Given the description of an element on the screen output the (x, y) to click on. 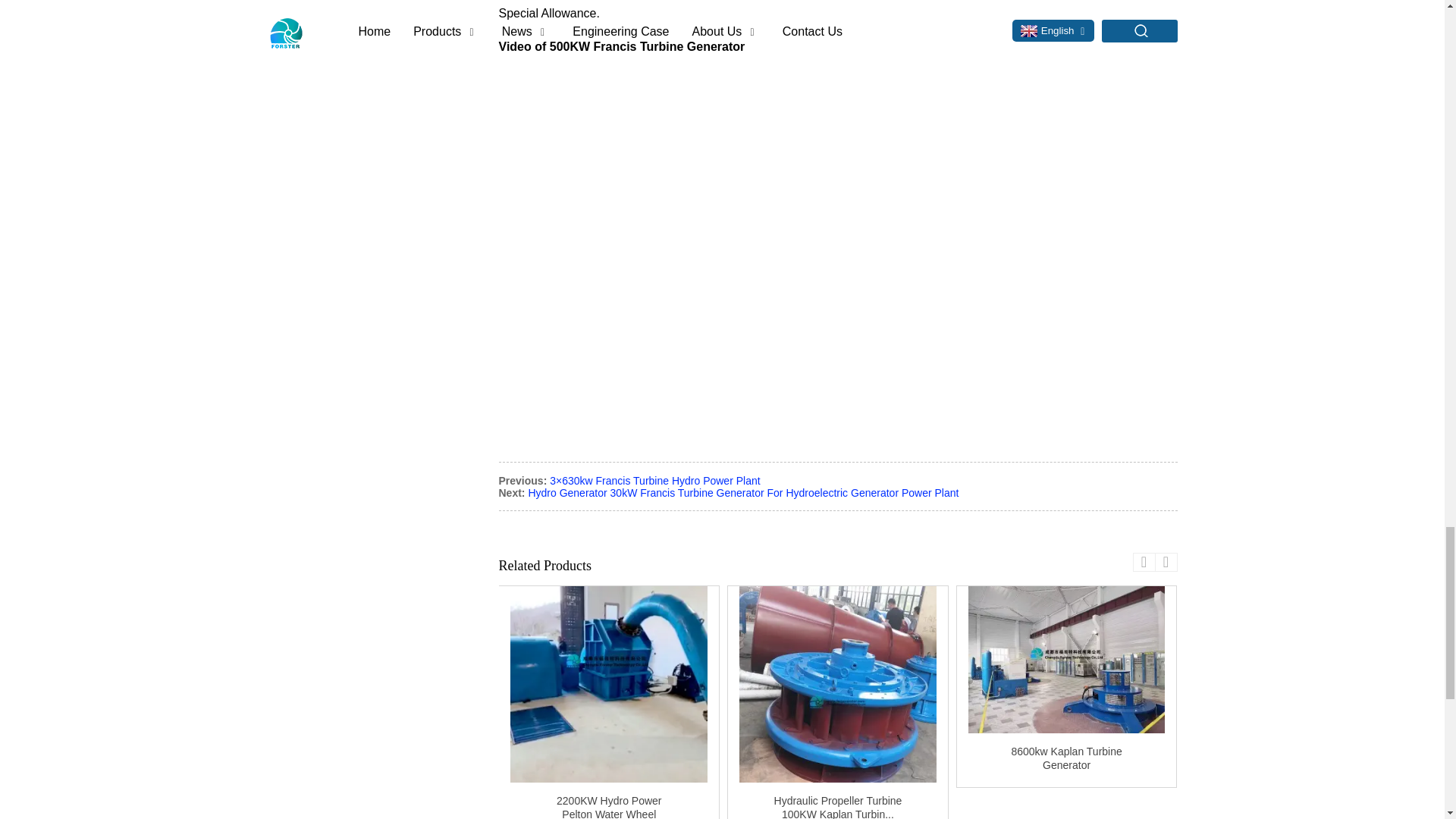
8600kw Kaplan Turbine Generator (1067, 659)
2200KW Hydro Power Pelton Water Wheel Turbine Generator (609, 684)
